Given the description of an element on the screen output the (x, y) to click on. 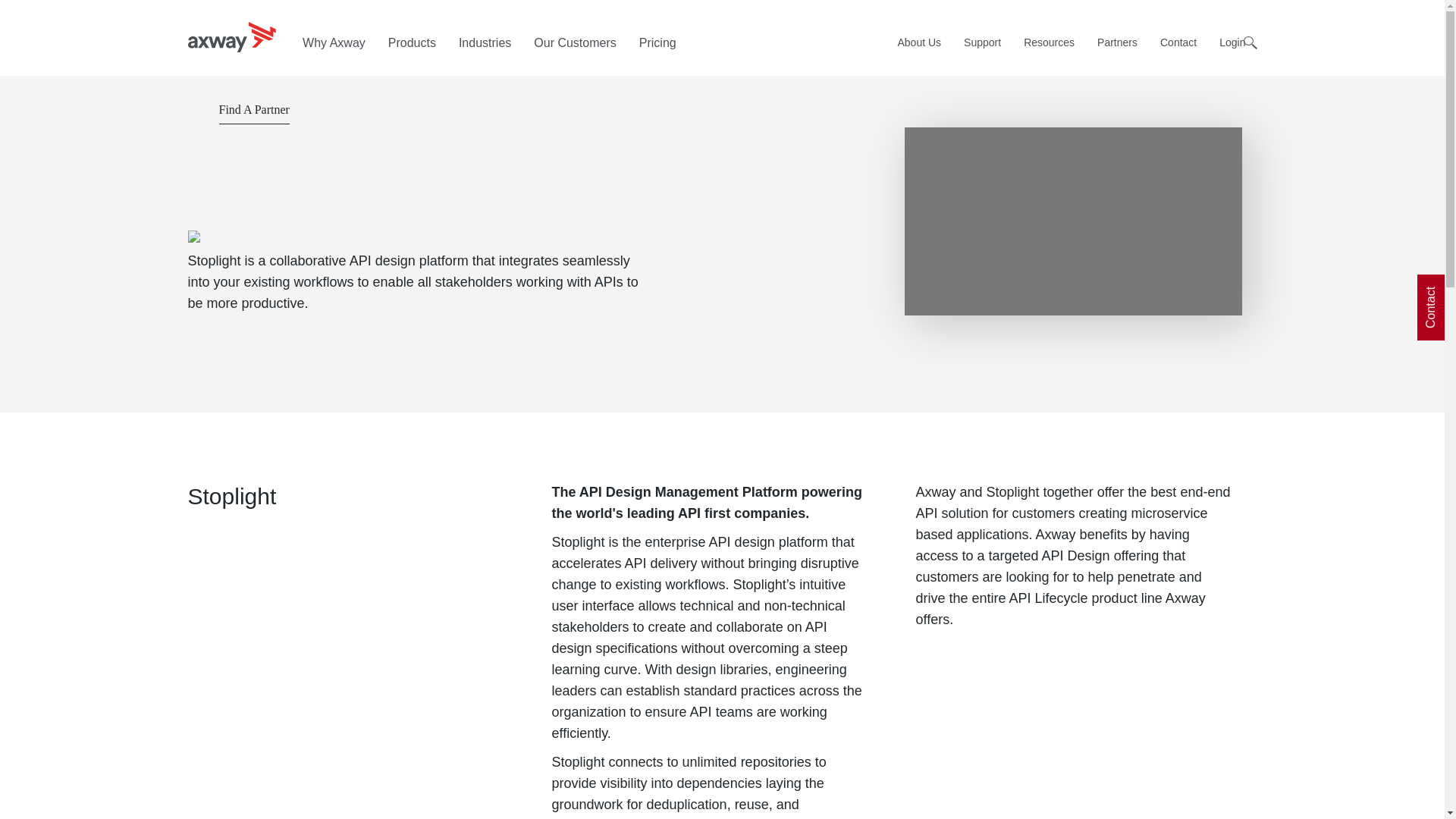
Why Axway (334, 42)
Our Customers (574, 42)
Pricing (657, 42)
Support (981, 42)
Products (411, 42)
About Us (918, 42)
Industries (484, 42)
Watch Video (1072, 220)
